Given the description of an element on the screen output the (x, y) to click on. 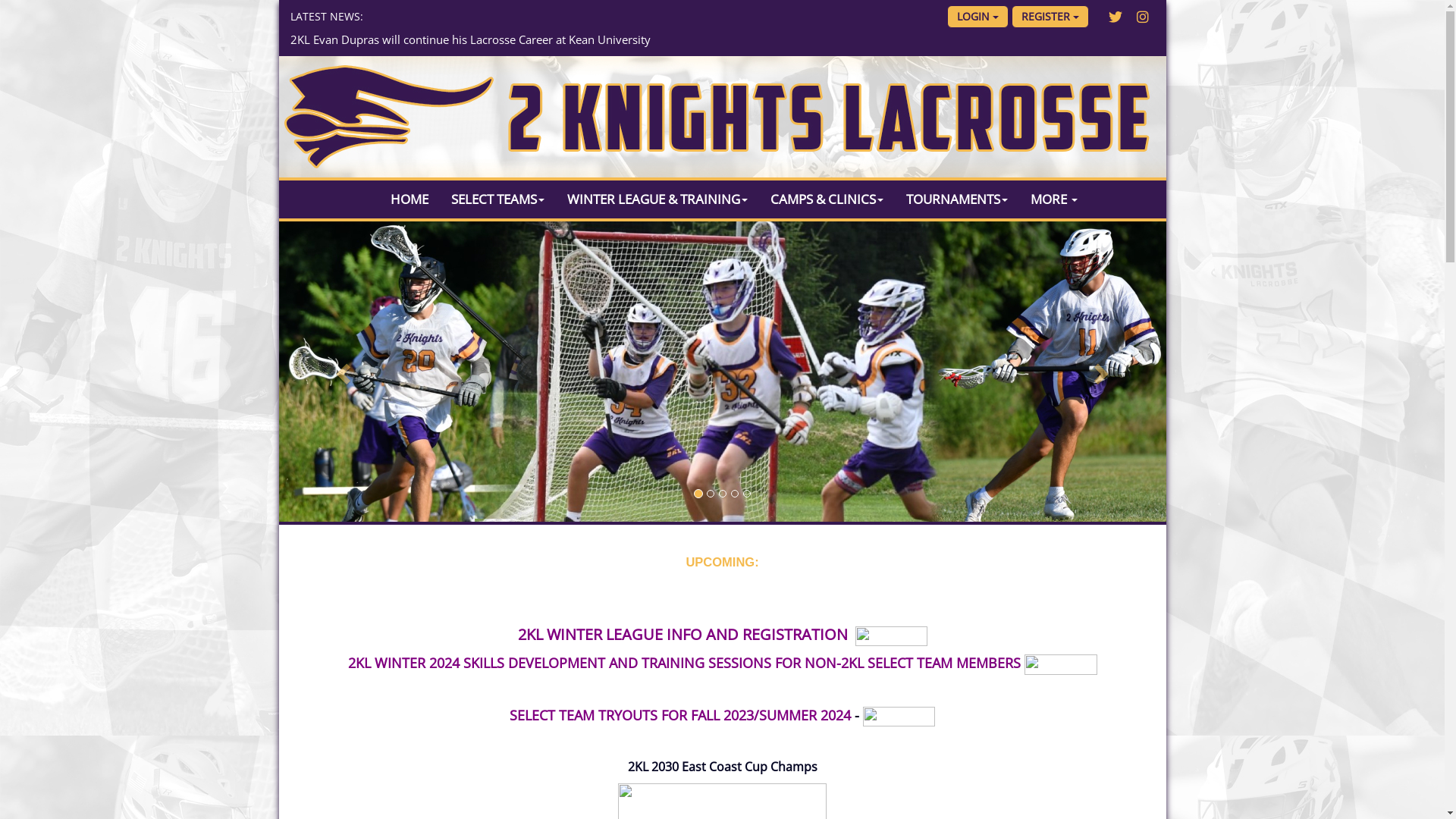
SELECT TEAMS Element type: text (497, 199)
MORE Element type: text (1053, 199)
Next Element type: text (1099, 372)
LOGIN  Element type: text (976, 16)
Previous Element type: text (345, 372)
REGISTER  Element type: text (1049, 16)
HOME Element type: text (409, 199)
TOURNAMENTS Element type: text (956, 199)
CAMPS & CLINICS Element type: text (826, 199)
2 Knights Lacrosse Element type: hover (722, 116)
Instagram Element type: hover (1142, 16)
Twitter Element type: hover (1115, 16)
WINTER LEAGUE & TRAINING Element type: text (656, 199)
